Given the description of an element on the screen output the (x, y) to click on. 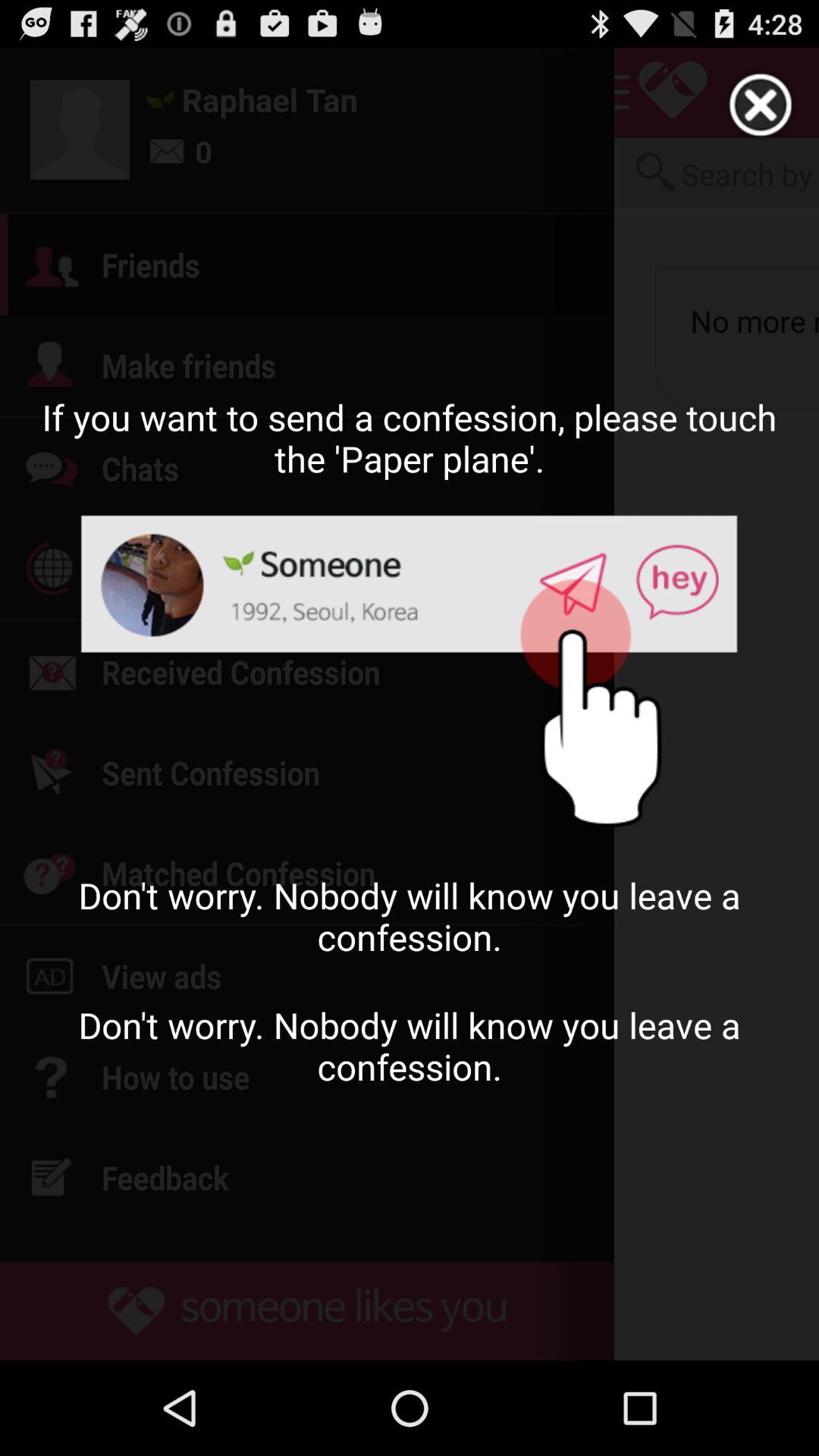
close out (761, 105)
